Given the description of an element on the screen output the (x, y) to click on. 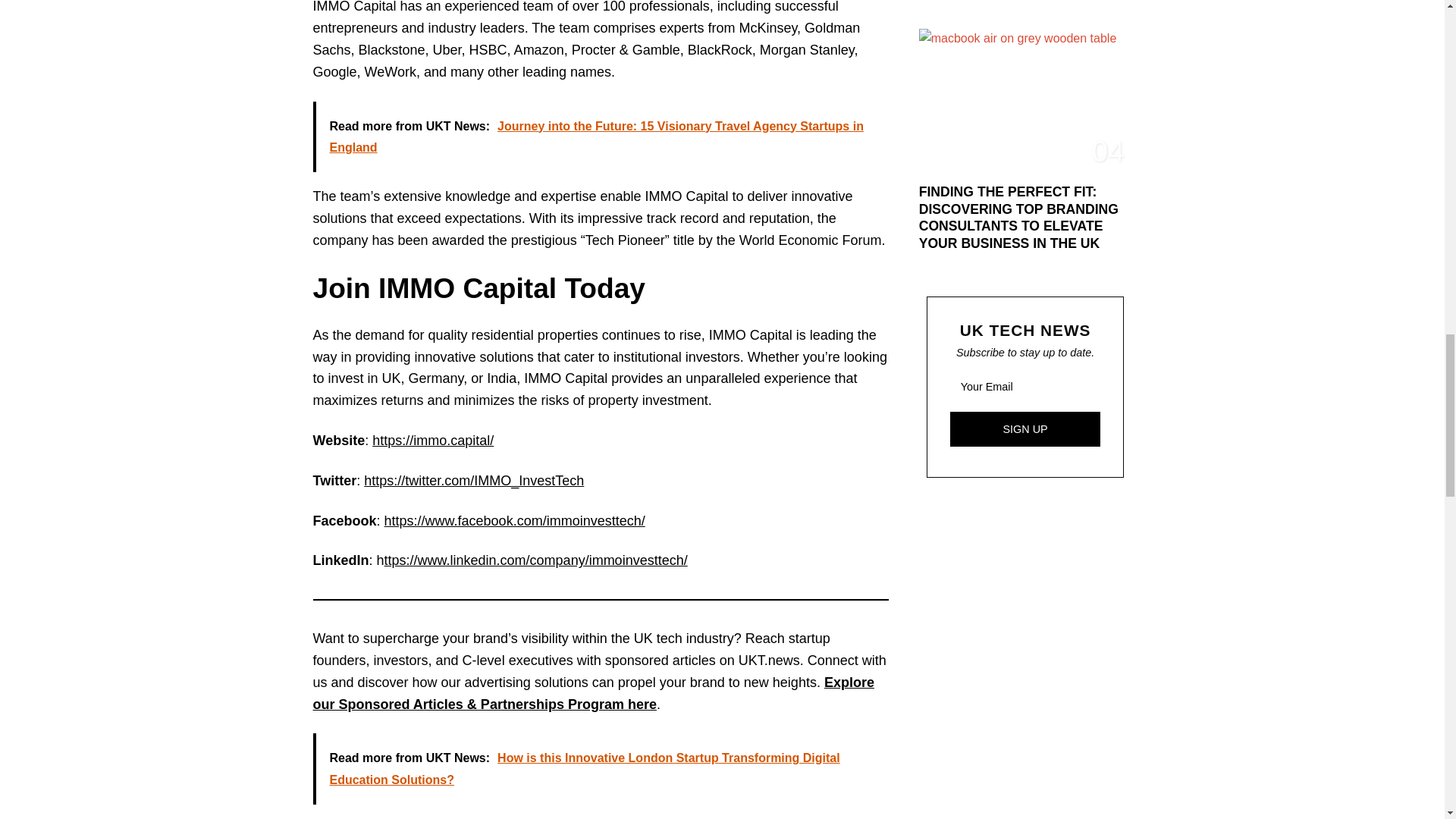
Sign up (1025, 428)
